Given the description of an element on the screen output the (x, y) to click on. 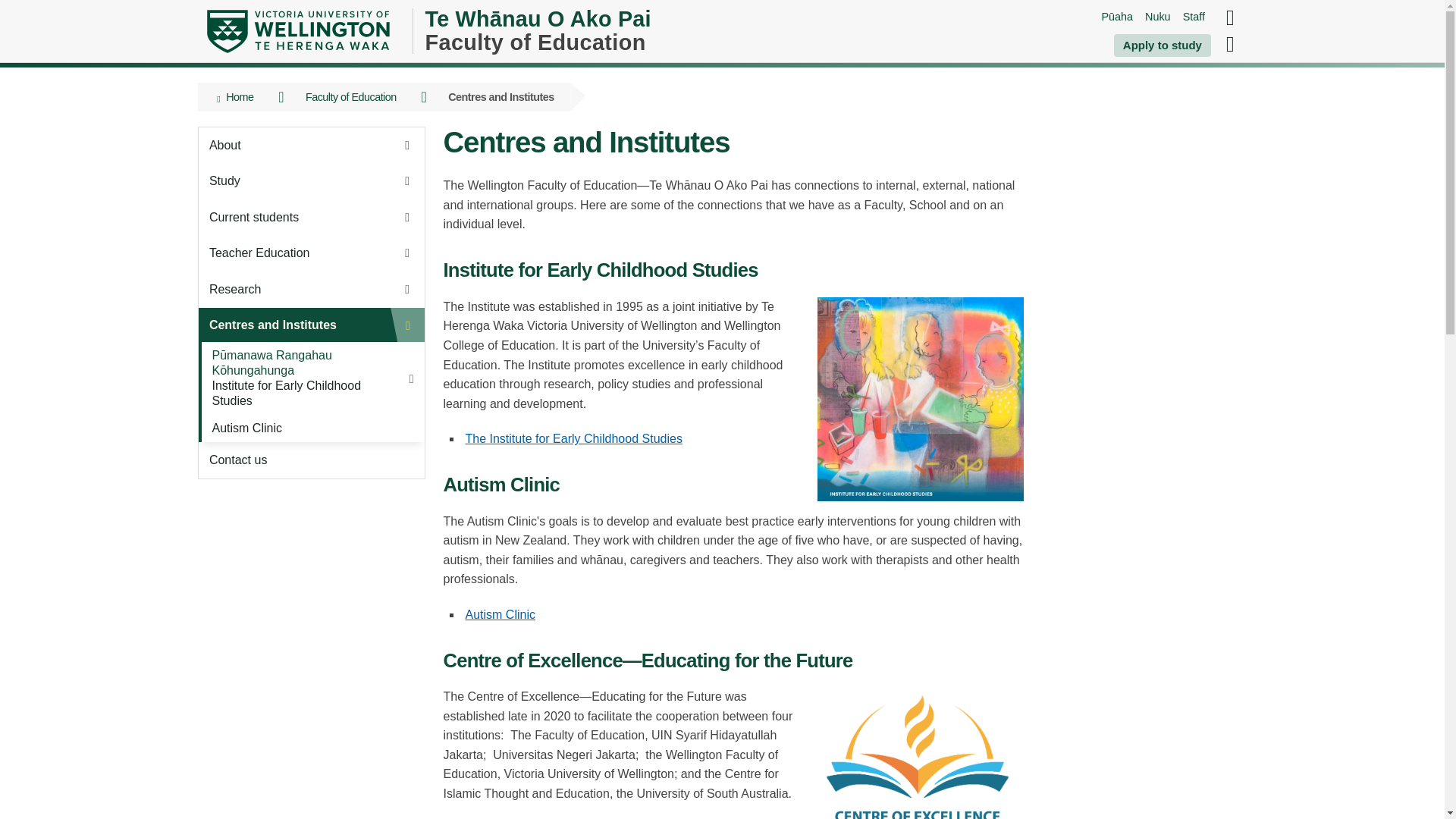
Apply to study (1162, 45)
Apply to study (1162, 45)
Victoria University of Wellington homepage (297, 31)
Nuku (1157, 16)
Staff (1193, 16)
Open Staff intranet - Ipurangiroto in a new tab (1193, 16)
